Given the description of an element on the screen output the (x, y) to click on. 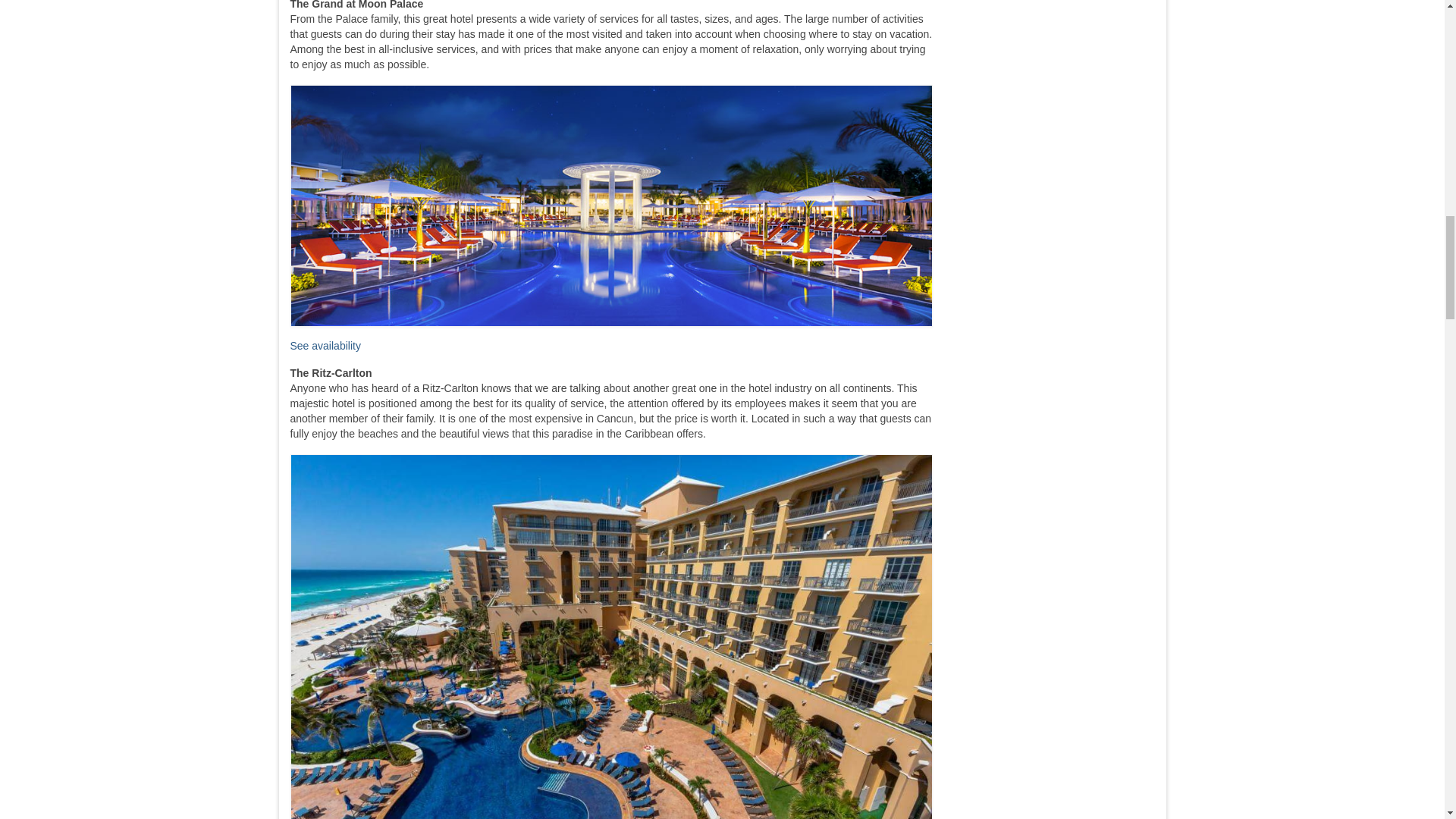
See availability (324, 345)
